Given the description of an element on the screen output the (x, y) to click on. 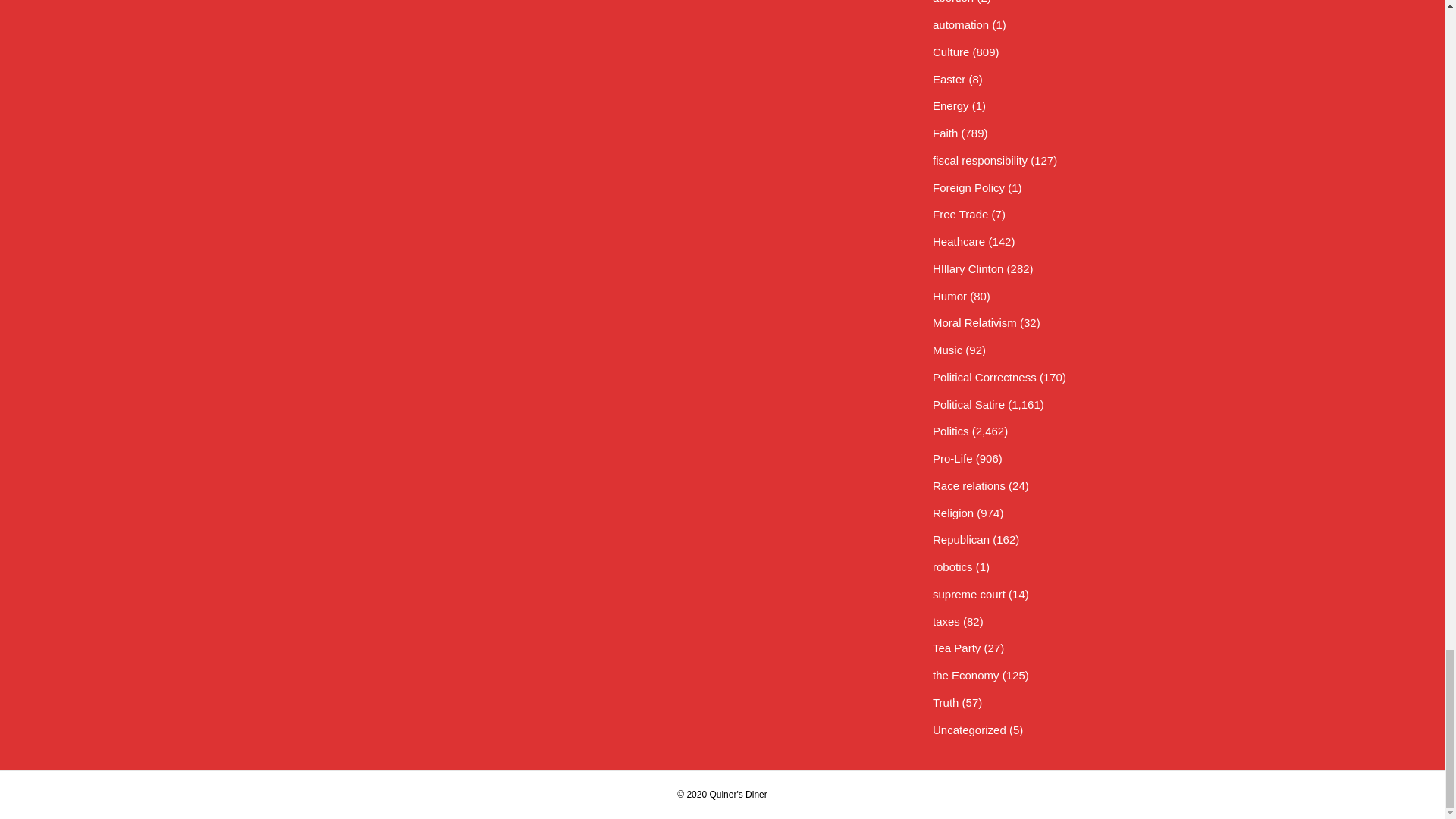
Culture (951, 51)
fiscal responsibility (980, 160)
Free Trade (960, 214)
Easter (949, 78)
automation (960, 24)
abortion (953, 2)
Faith (945, 132)
Energy (951, 105)
Foreign Policy (968, 187)
